Given the description of an element on the screen output the (x, y) to click on. 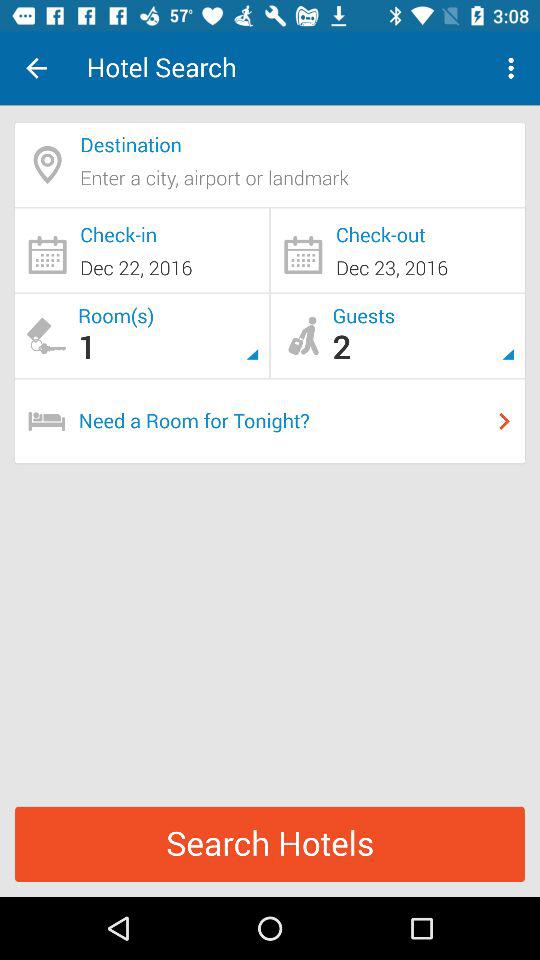
click icon next to hotel search item (513, 67)
